Given the description of an element on the screen output the (x, y) to click on. 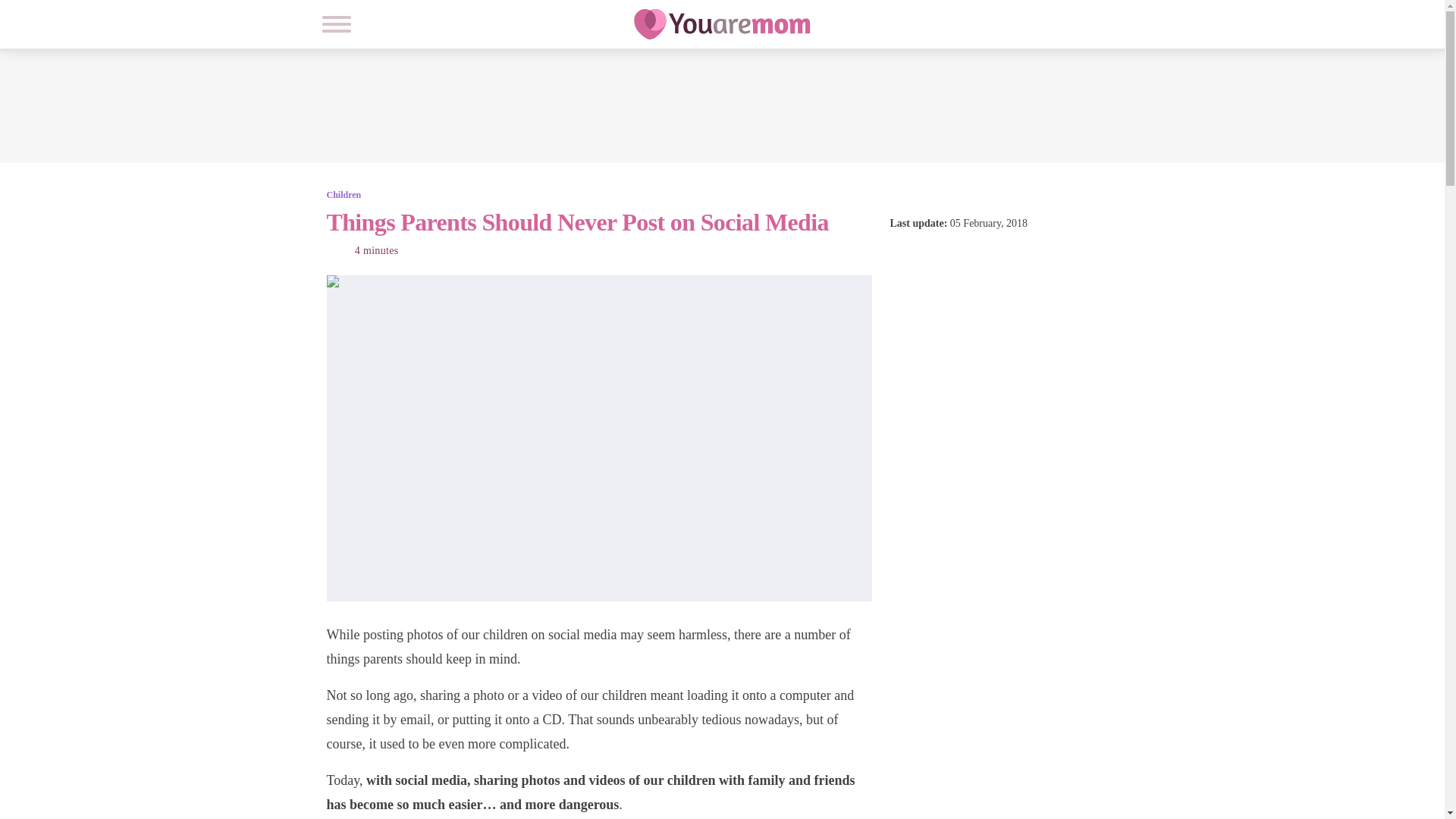
Children (343, 193)
Children (343, 193)
